Given the description of an element on the screen output the (x, y) to click on. 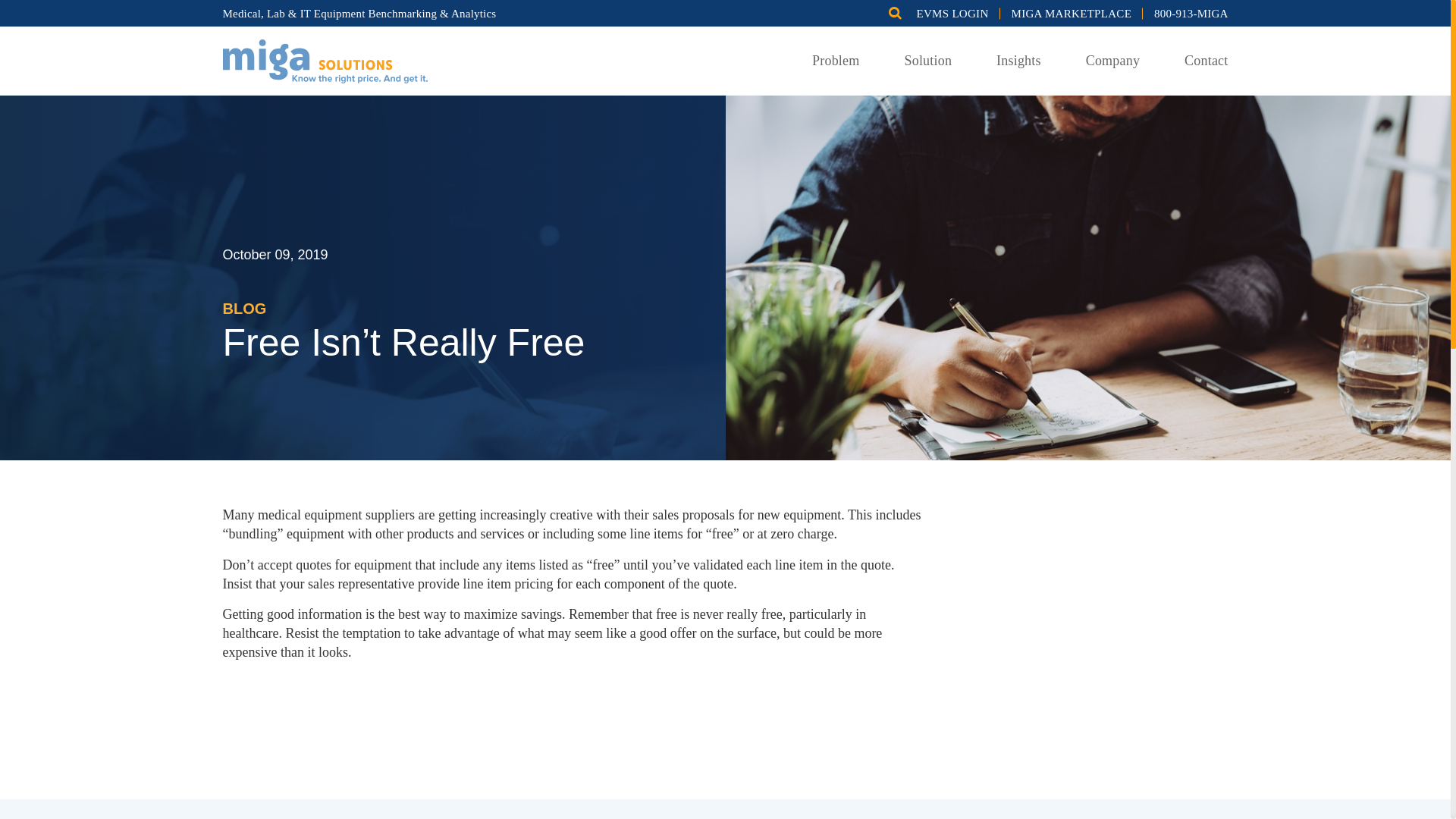
800-913-MIGA (1190, 13)
MIGA MARKETPLACE (1071, 13)
EVMS LOGIN (951, 13)
Miga Solutions (325, 59)
